Given the description of an element on the screen output the (x, y) to click on. 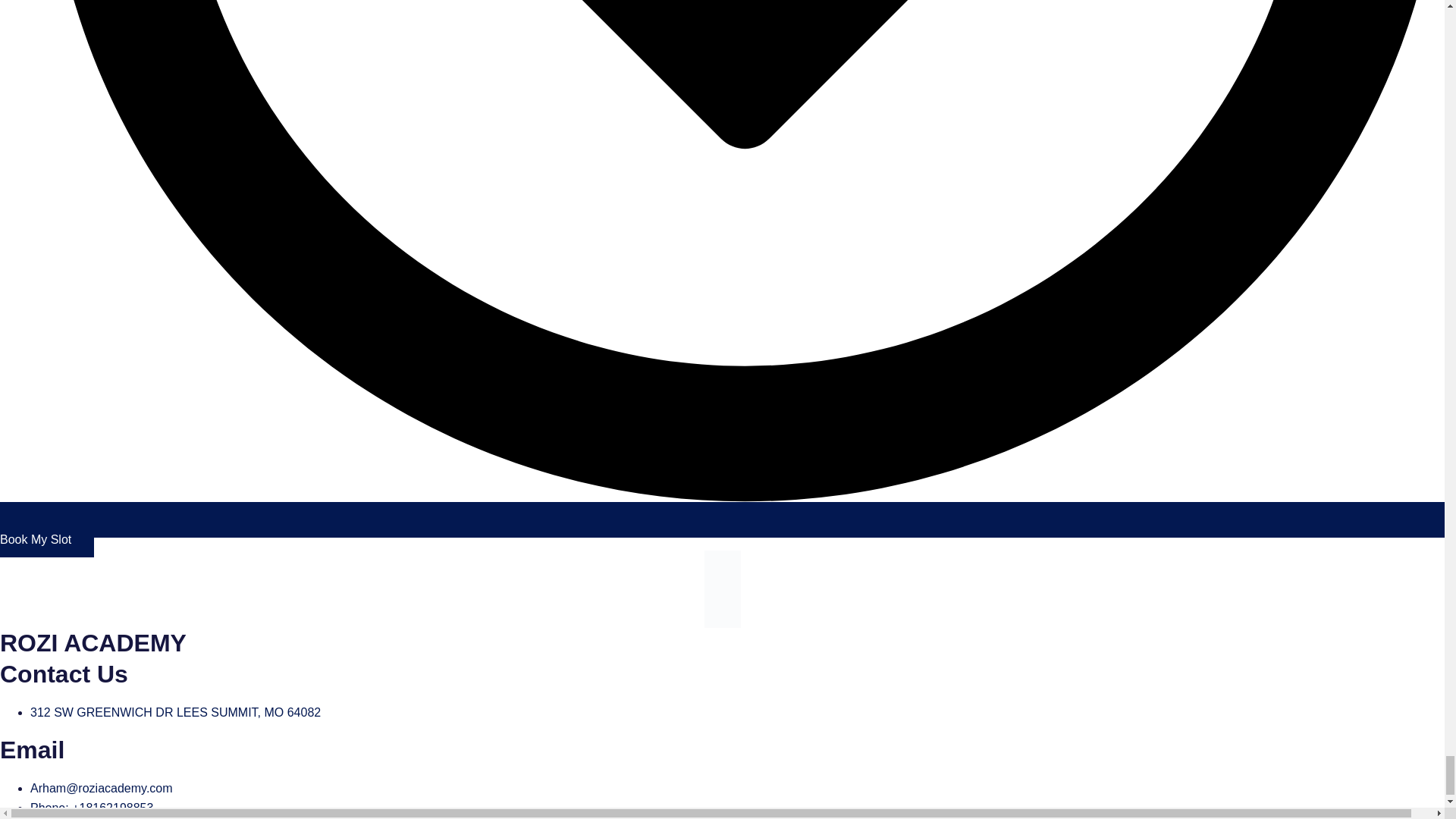
312 SW GREENWICH DR LEES SUMMIT, MO 64082 (175, 712)
